Given the description of an element on the screen output the (x, y) to click on. 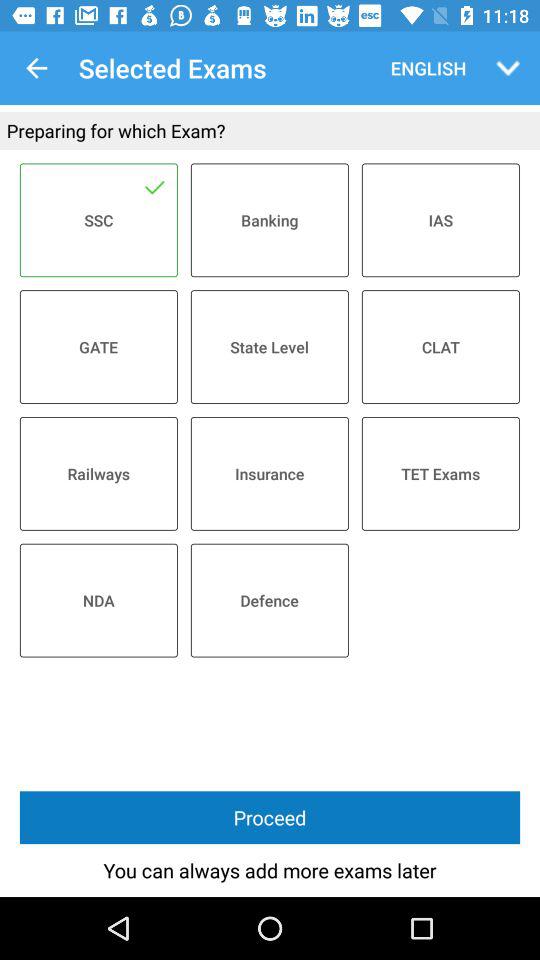
select icon to the left of selected exams icon (36, 68)
